Given the description of an element on the screen output the (x, y) to click on. 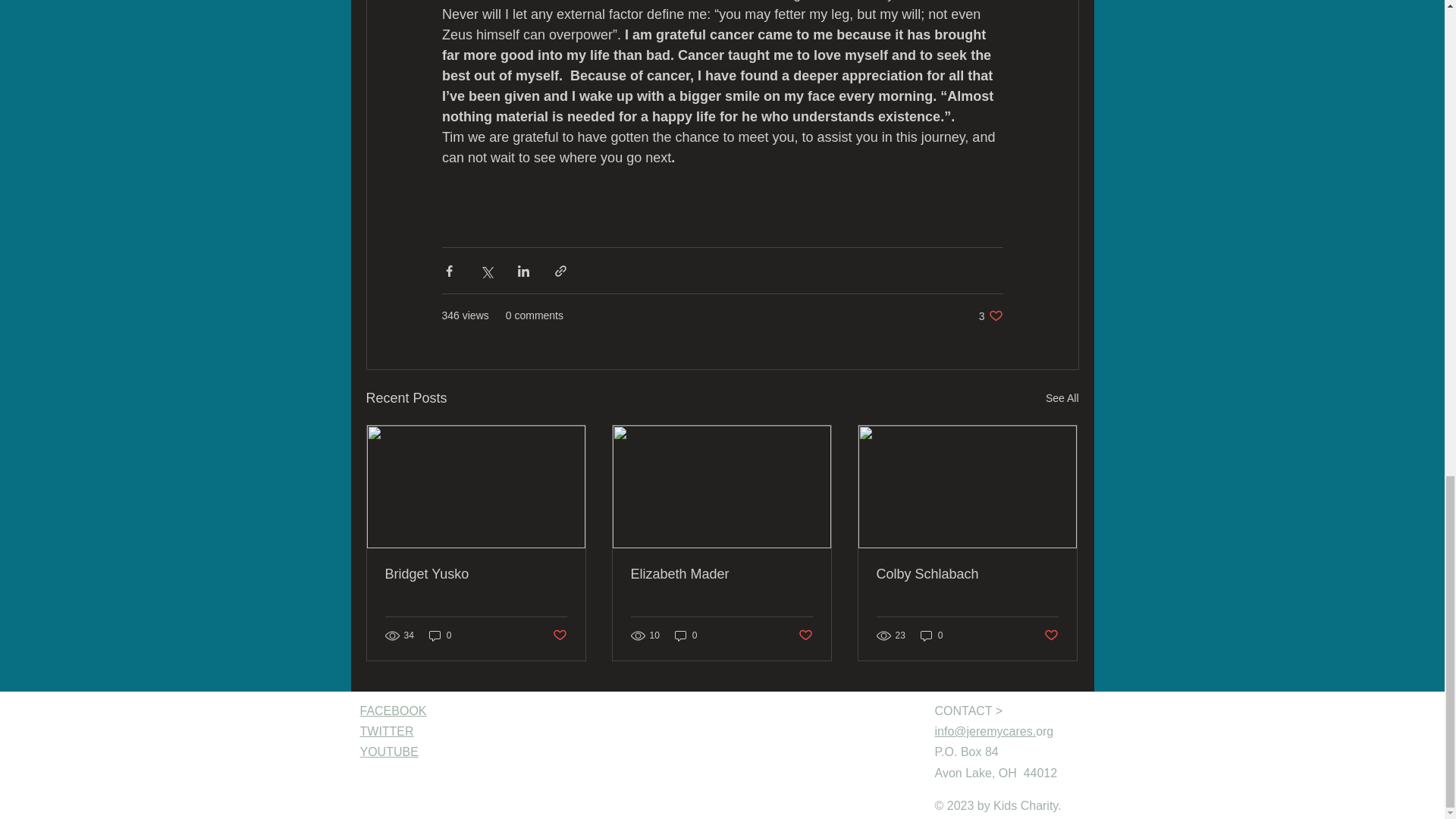
0 (440, 635)
See All (1061, 398)
Post not marked as liked (558, 634)
Bridget Yusko (476, 574)
